Given the description of an element on the screen output the (x, y) to click on. 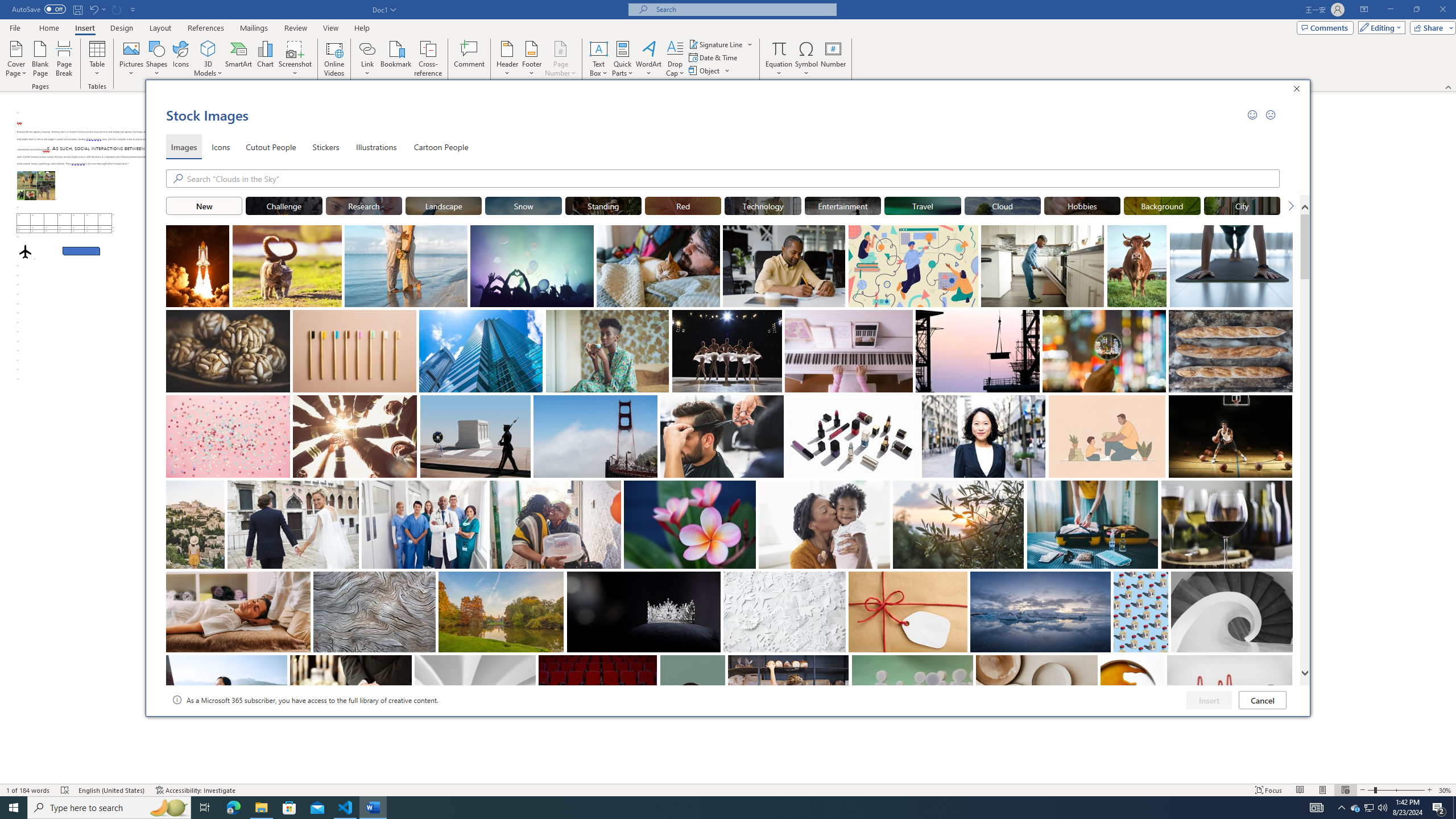
WordArt (648, 58)
Cutout People (271, 146)
Layout (160, 28)
Review (295, 28)
Drop Cap (674, 58)
Search highlights icon opens search home window (167, 807)
3D Models (208, 48)
SmartArt... (238, 58)
File Tab (15, 27)
Symbol (806, 58)
